Given the description of an element on the screen output the (x, y) to click on. 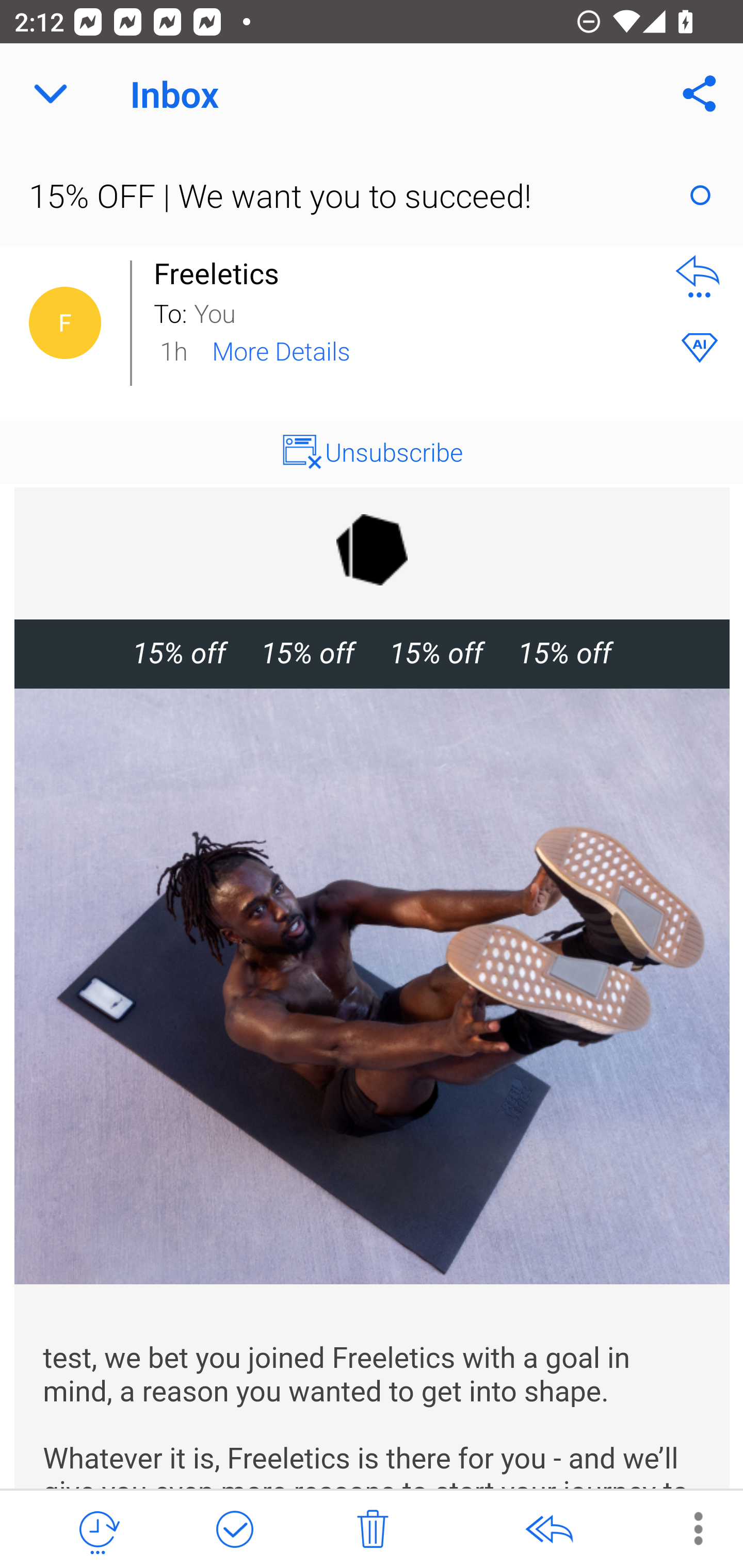
Navigate up (50, 93)
Share (699, 93)
Mark as Read (699, 194)
Freeletics (221, 273)
Contact Details (64, 322)
You (422, 311)
More Details (280, 349)
Unsubscribe (393, 451)
original (372, 549)
15% off     15% off     15% off     15% off (371, 653)
original (372, 985)
More Options (687, 1528)
Snooze (97, 1529)
Mark as Done (234, 1529)
Delete (372, 1529)
Reply All (548, 1529)
